Given the description of an element on the screen output the (x, y) to click on. 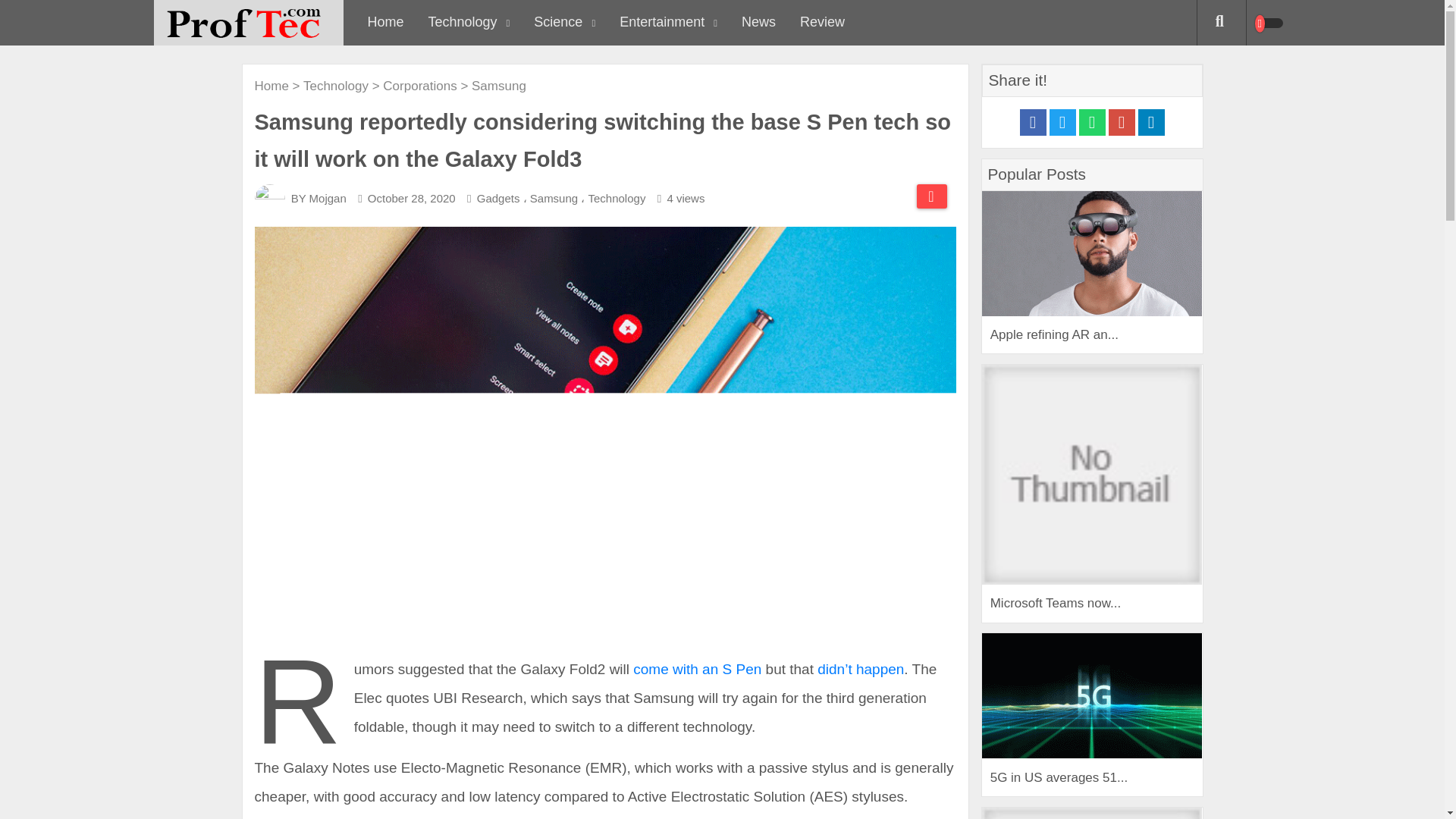
Entertainment (668, 22)
Home (384, 22)
share with facebook (1032, 121)
share with linkedin (1150, 121)
share with twitter (1062, 121)
share with email (1121, 121)
Technology (469, 22)
Science (564, 22)
share with whatsapp (1091, 121)
